Given the description of an element on the screen output the (x, y) to click on. 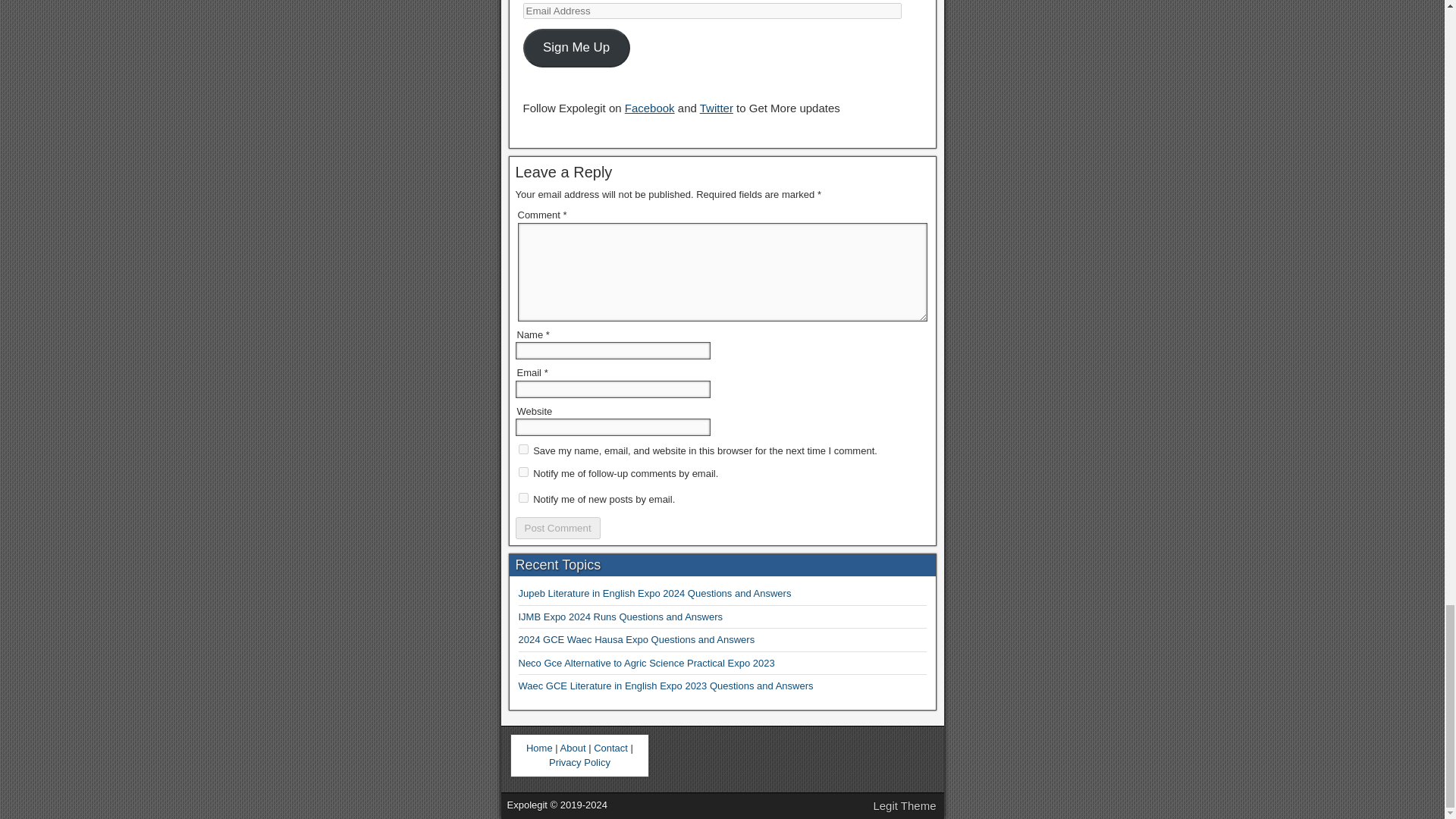
subscribe (523, 497)
subscribe (523, 471)
yes (523, 449)
Post Comment (557, 527)
